Given the description of an element on the screen output the (x, y) to click on. 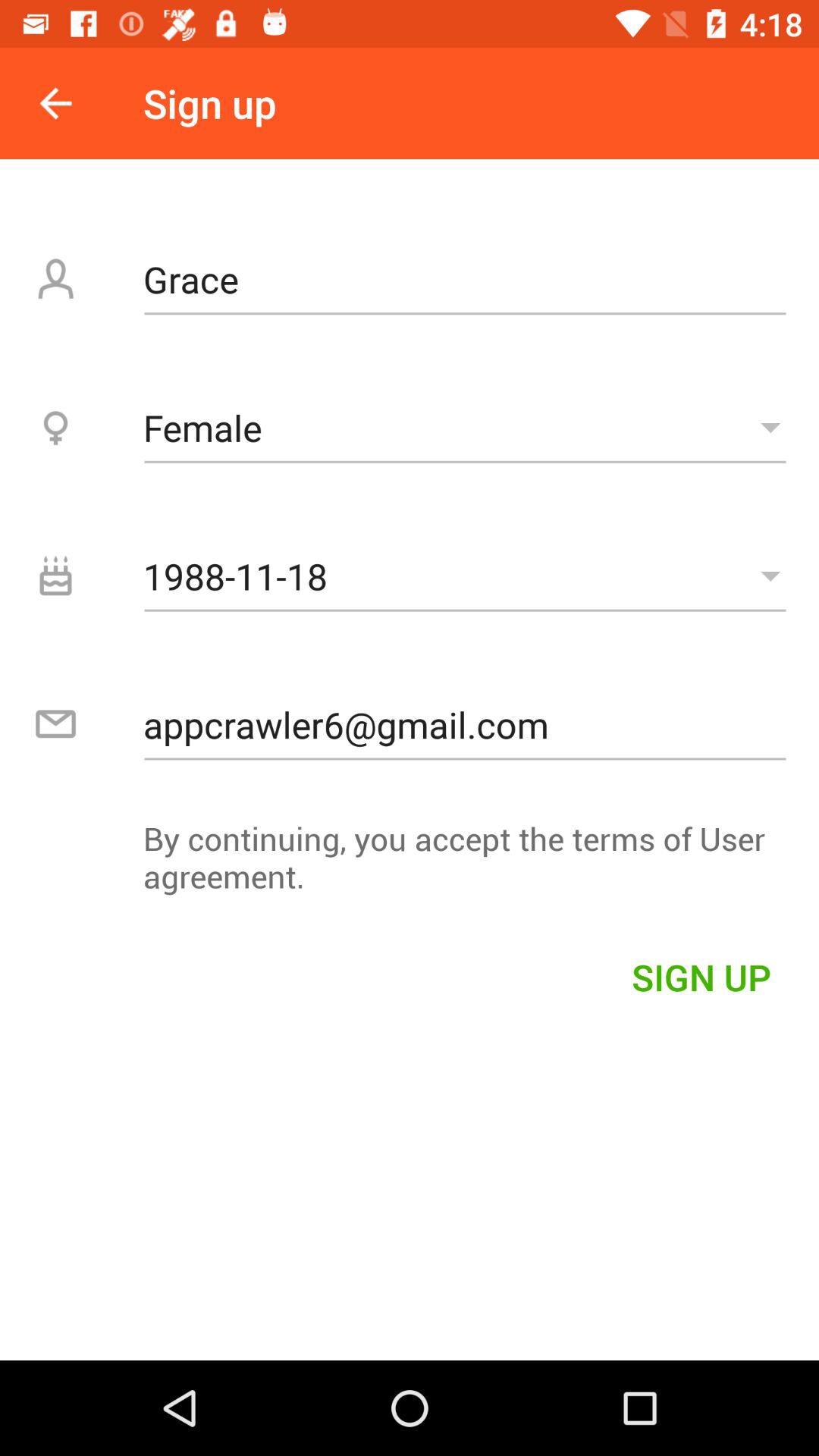
swipe until by continuing you (409, 864)
